Given the description of an element on the screen output the (x, y) to click on. 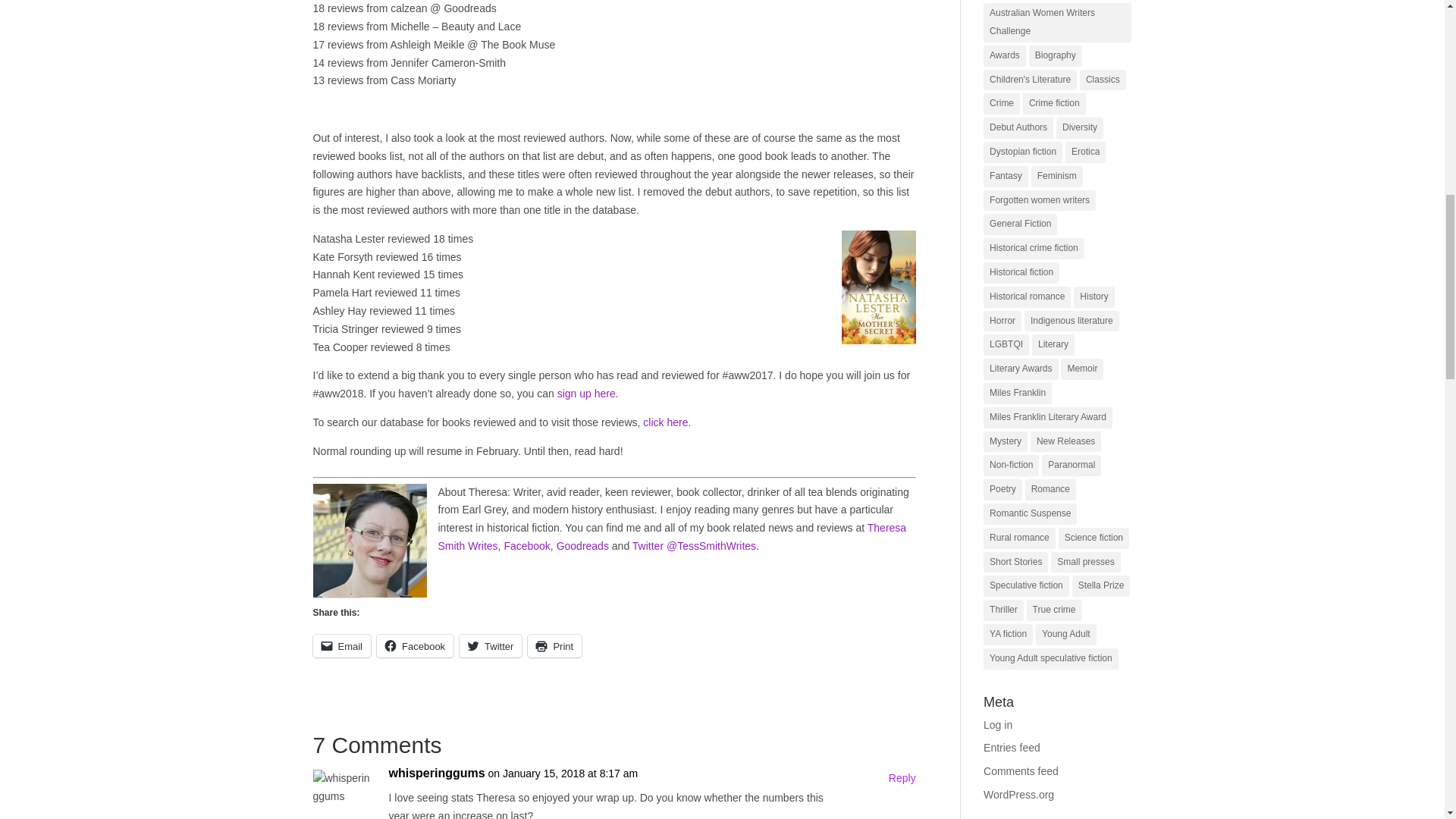
Click to share on Facebook (414, 645)
Click to share on Twitter (490, 645)
Click to email a link to a friend (342, 645)
Theresa Smith Writes (672, 536)
Facebook (526, 545)
sign up here (586, 393)
Facebook (414, 645)
Email (342, 645)
Twitter (490, 645)
Click to print (553, 645)
